Given the description of an element on the screen output the (x, y) to click on. 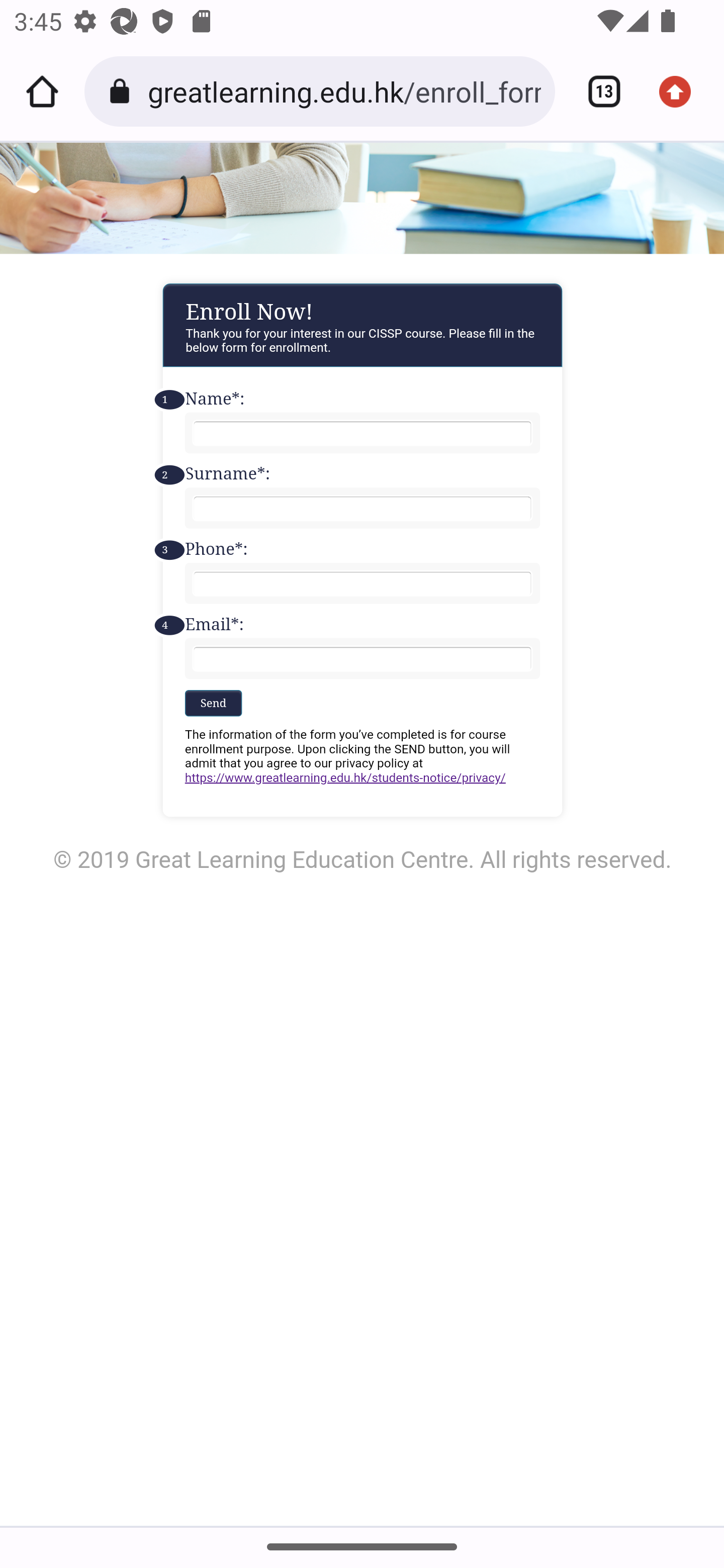
Home (42, 91)
Connection is secure (122, 91)
Switch or close tabs (597, 91)
Update available. More options (681, 91)
Send (213, 702)
